Given the description of an element on the screen output the (x, y) to click on. 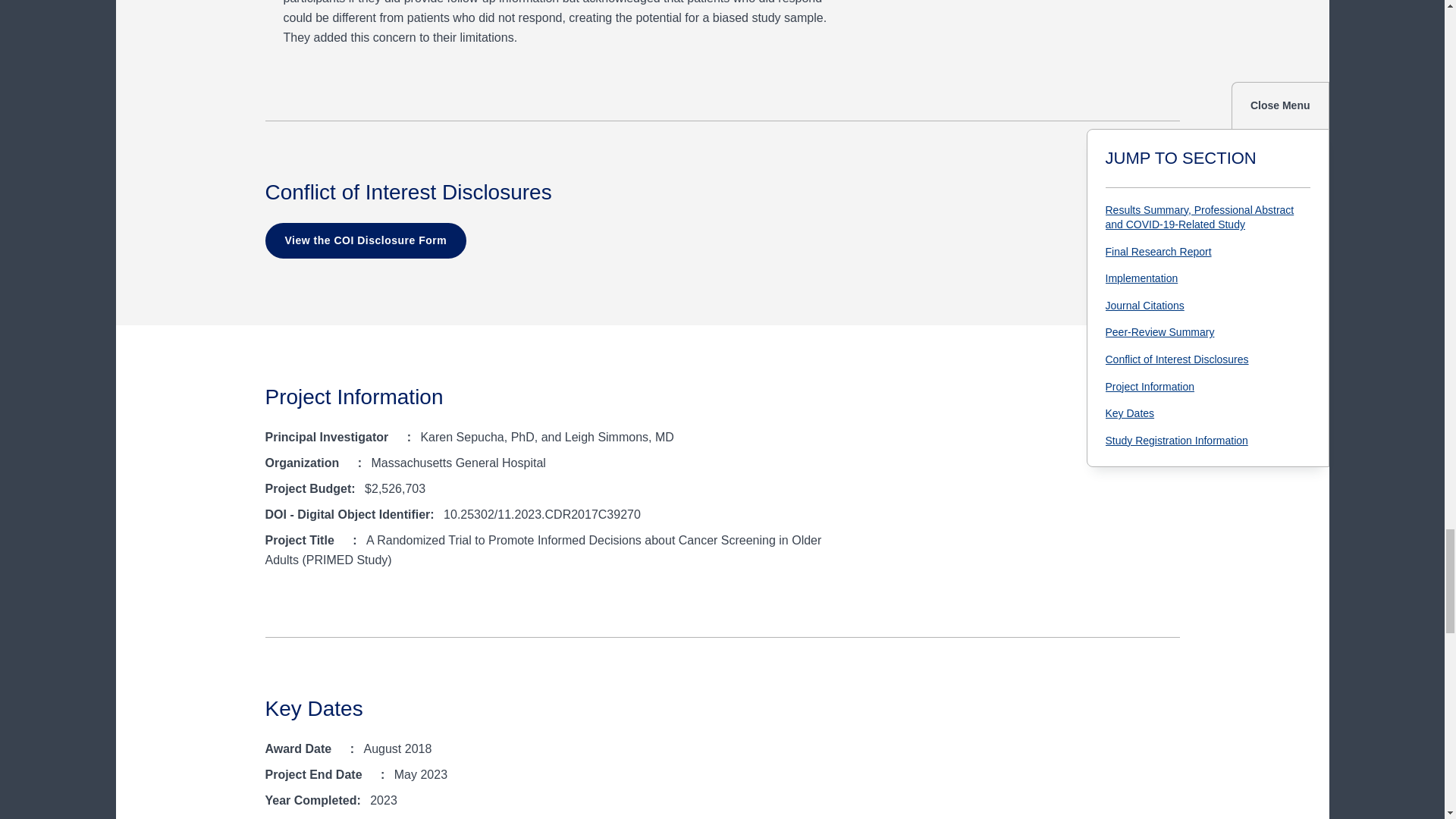
More Information (350, 463)
More Information (399, 437)
View the COI Disclosure Form (365, 240)
